Given the description of an element on the screen output the (x, y) to click on. 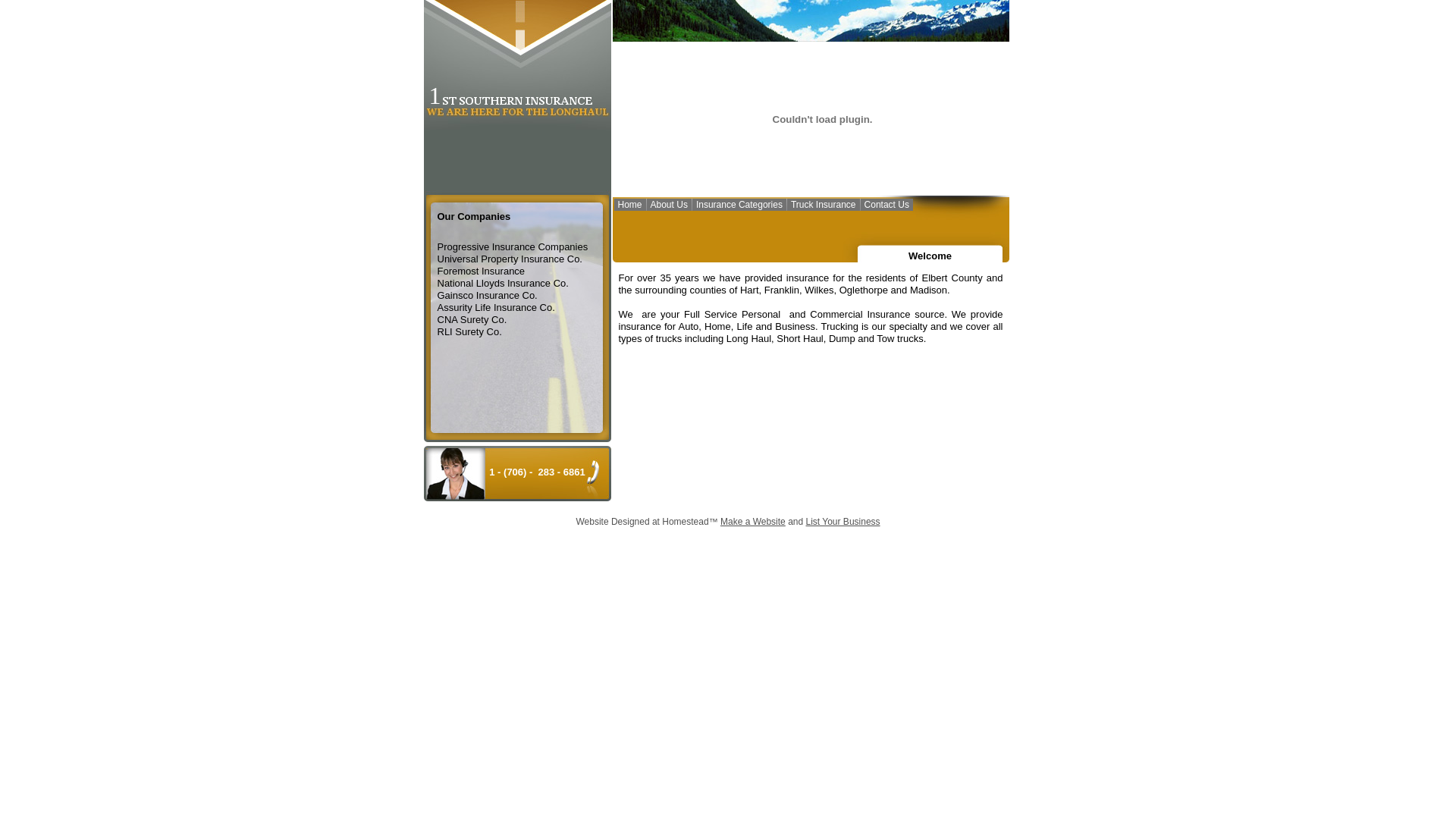
About Us Element type: text (668, 206)
Insurance Categories Element type: text (739, 206)
Contact Us Element type: text (886, 206)
Truck Insurance Element type: text (823, 206)
List Your Business Element type: text (842, 521)
Make a Website Element type: text (752, 521)
Home Element type: text (630, 206)
